Given the description of an element on the screen output the (x, y) to click on. 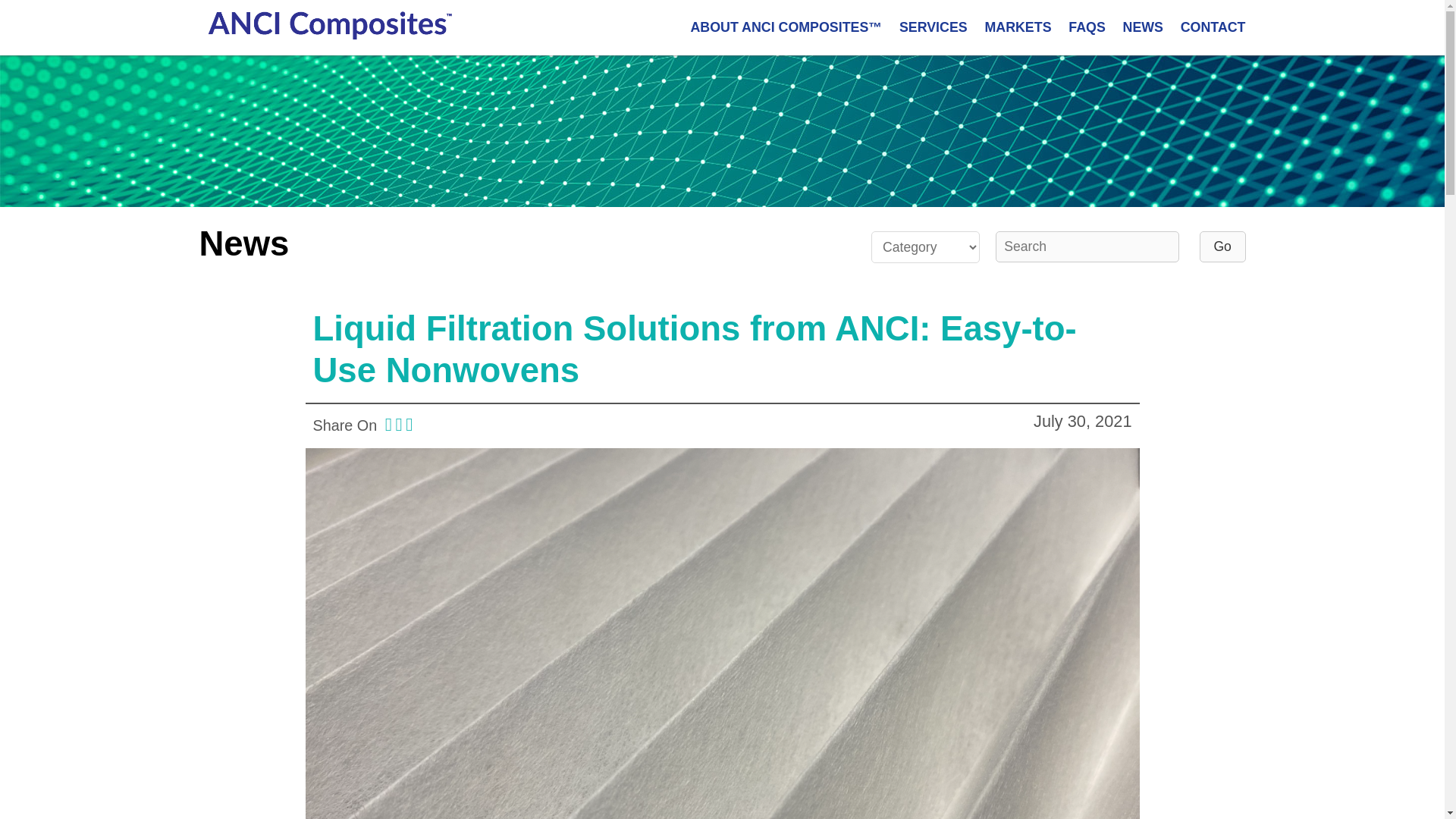
Go (1222, 246)
NEWS (1142, 27)
Go (1222, 246)
SERVICES (933, 27)
Liquid Filtration Solutions from ANCI: Easy-to-Use Nonwovens (694, 349)
MARKETS (1017, 27)
CONTACT (1213, 27)
FAQS (1086, 27)
